Given the description of an element on the screen output the (x, y) to click on. 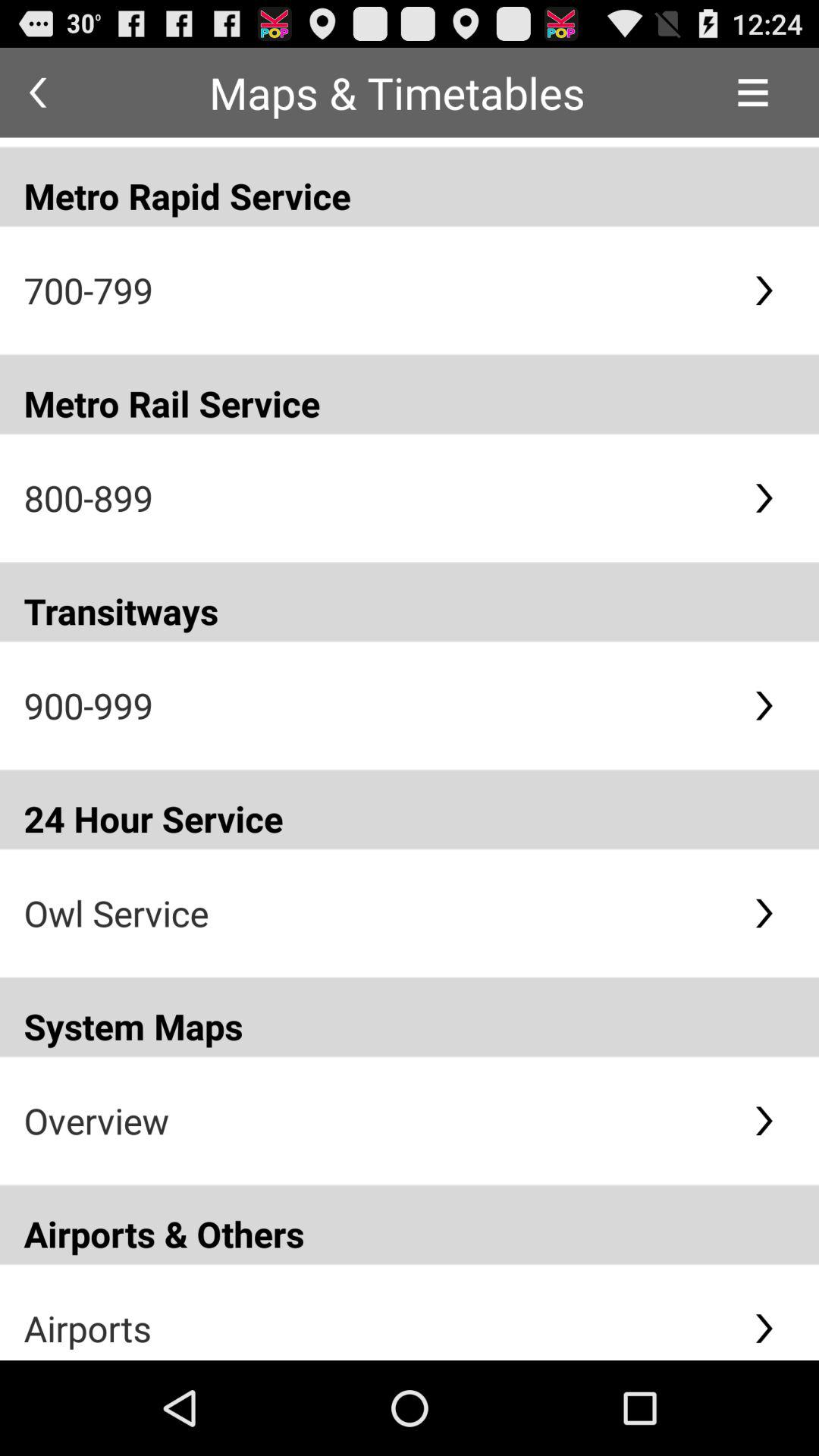
click icon below metro rail service icon (376, 497)
